Given the description of an element on the screen output the (x, y) to click on. 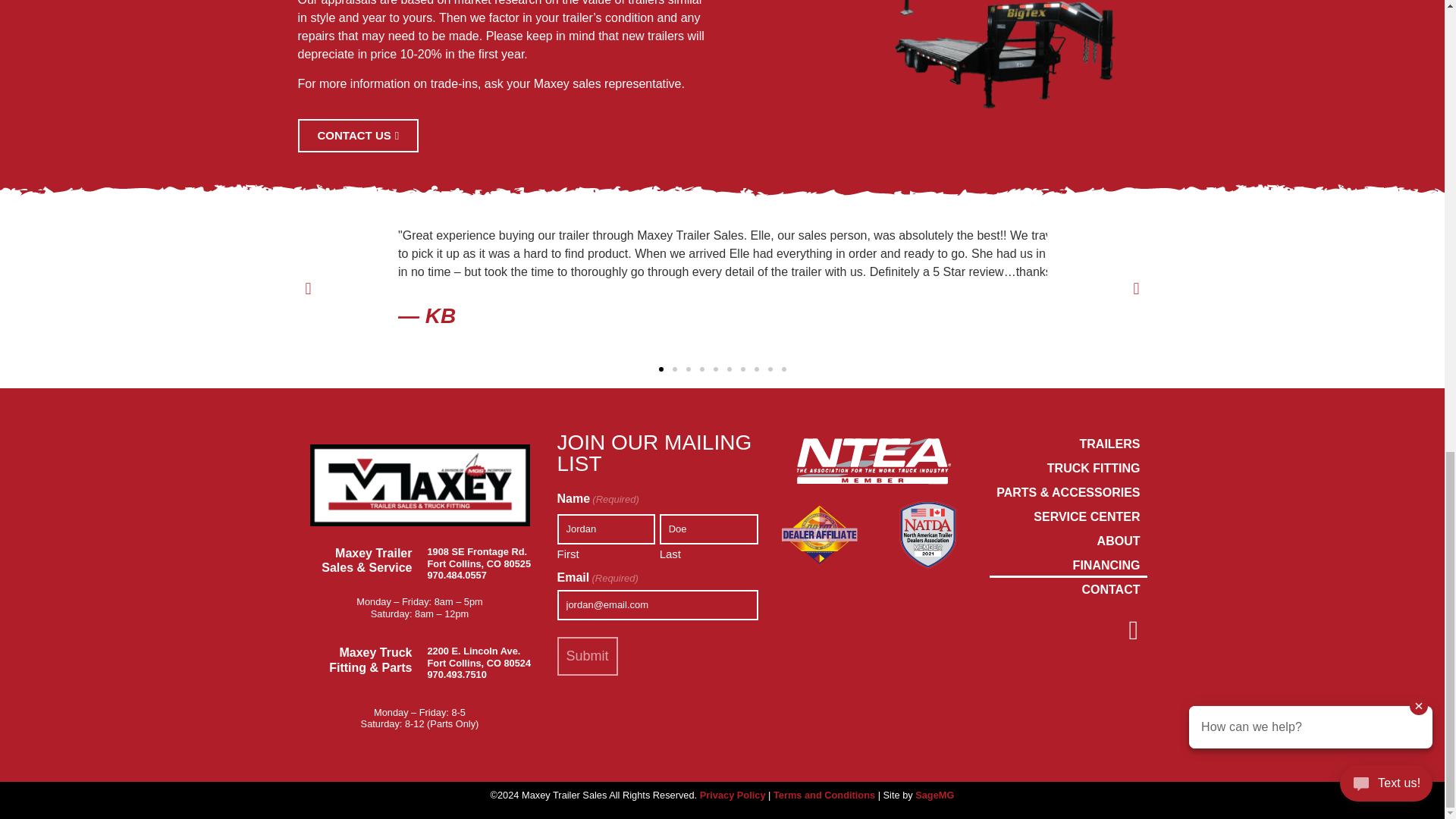
Submit (586, 656)
